Given the description of an element on the screen output the (x, y) to click on. 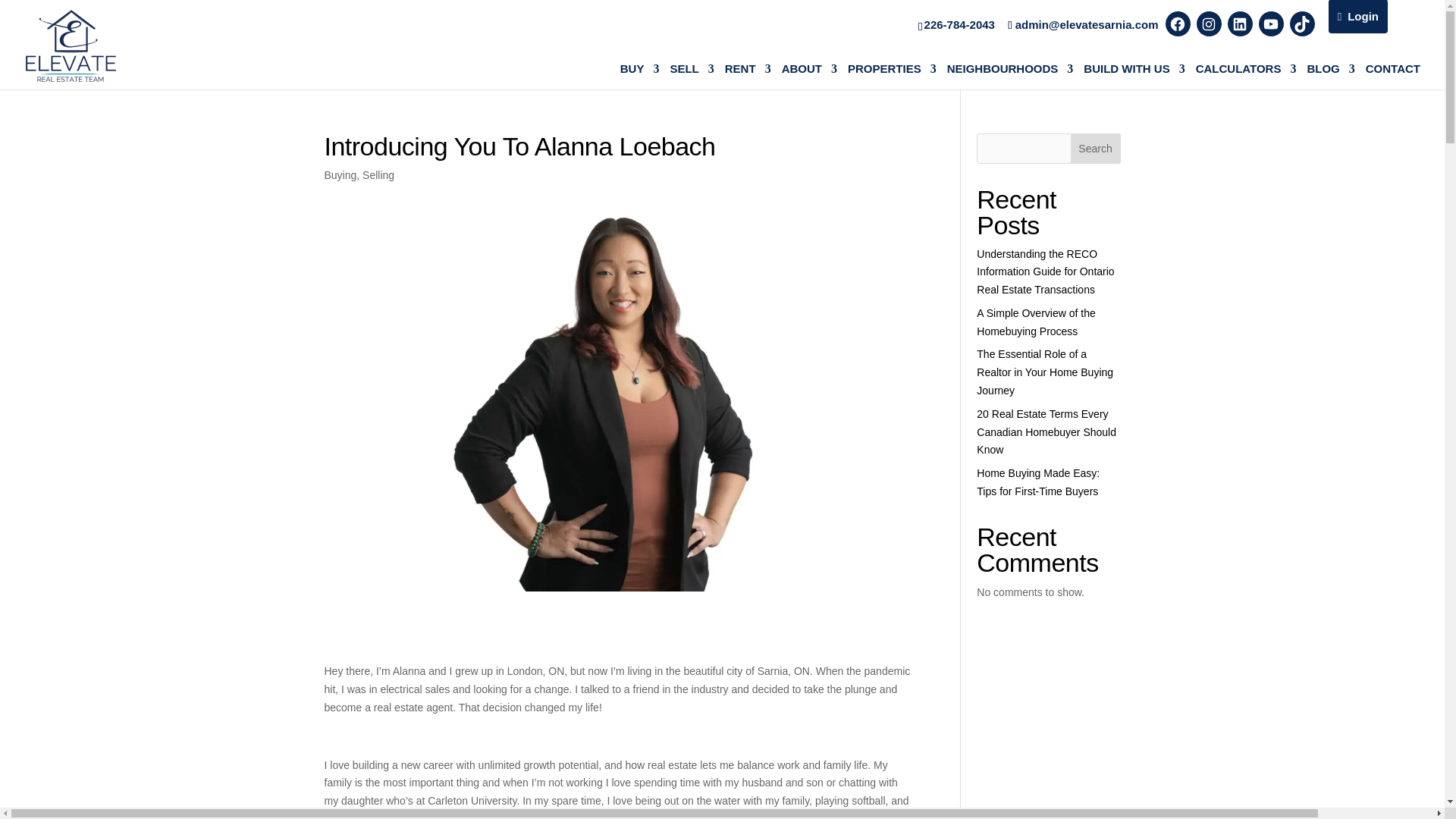
ABOUT (809, 68)
NEIGHBOURHOODS (1010, 68)
SELL (691, 68)
PROPERTIES (891, 68)
BUY (639, 68)
RENT (748, 68)
